Given the description of an element on the screen output the (x, y) to click on. 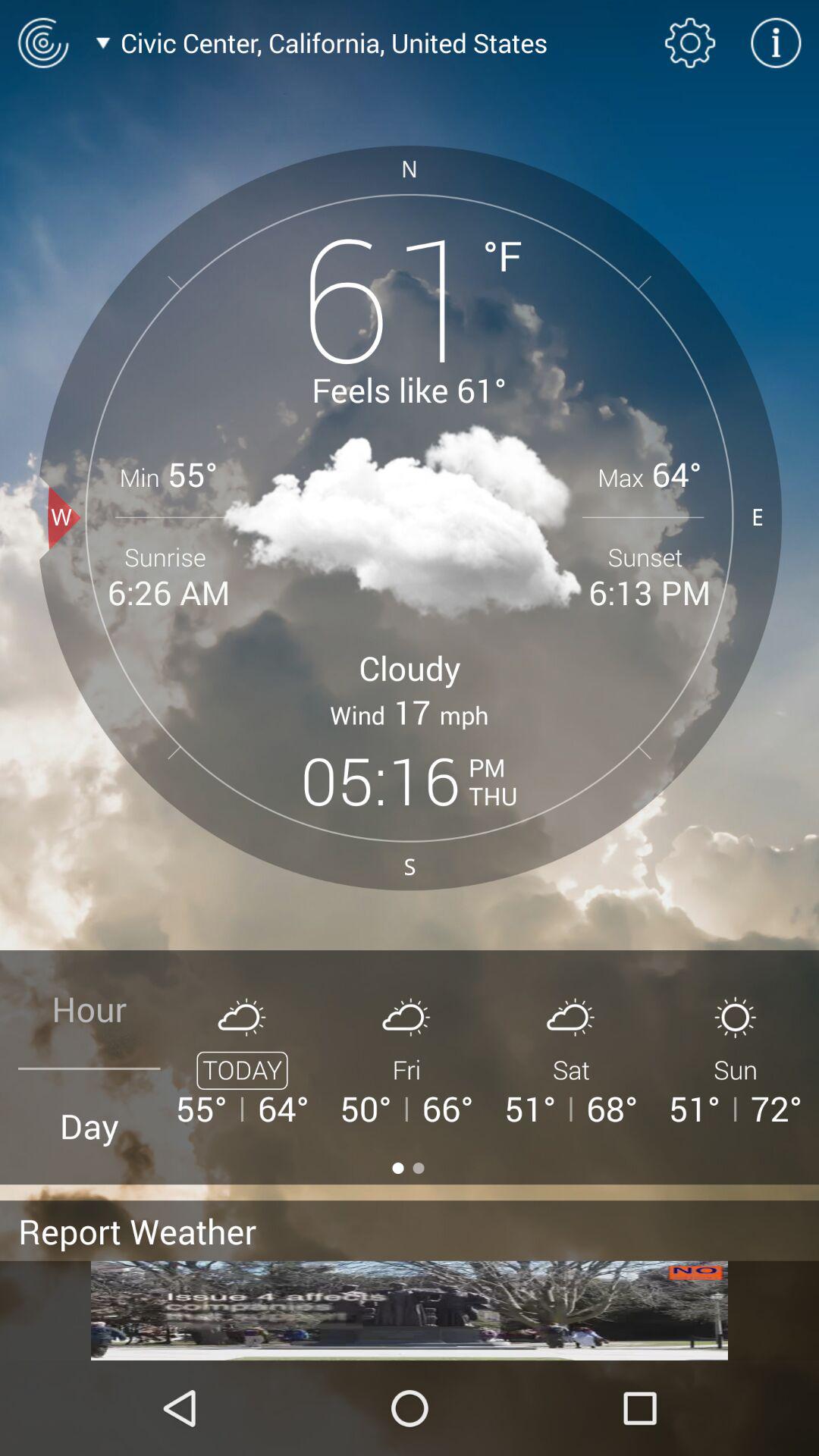
view settings (690, 42)
